Given the description of an element on the screen output the (x, y) to click on. 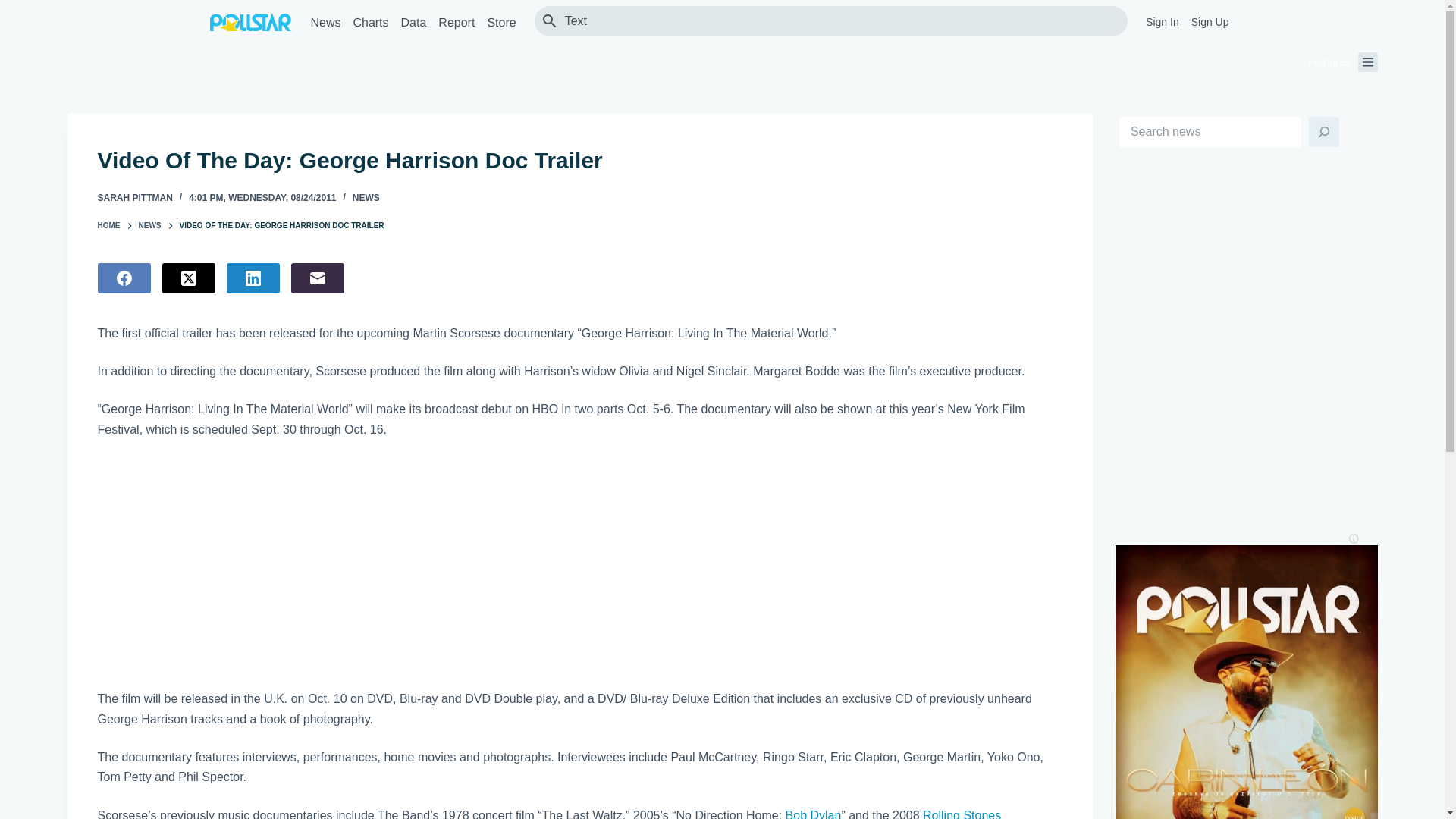
Text (838, 20)
Video Of The Day: George Harrison Doc Trailer (579, 160)
Text (838, 20)
Posts by Sarah Pittman (134, 197)
Skip to content (15, 7)
